Given the description of an element on the screen output the (x, y) to click on. 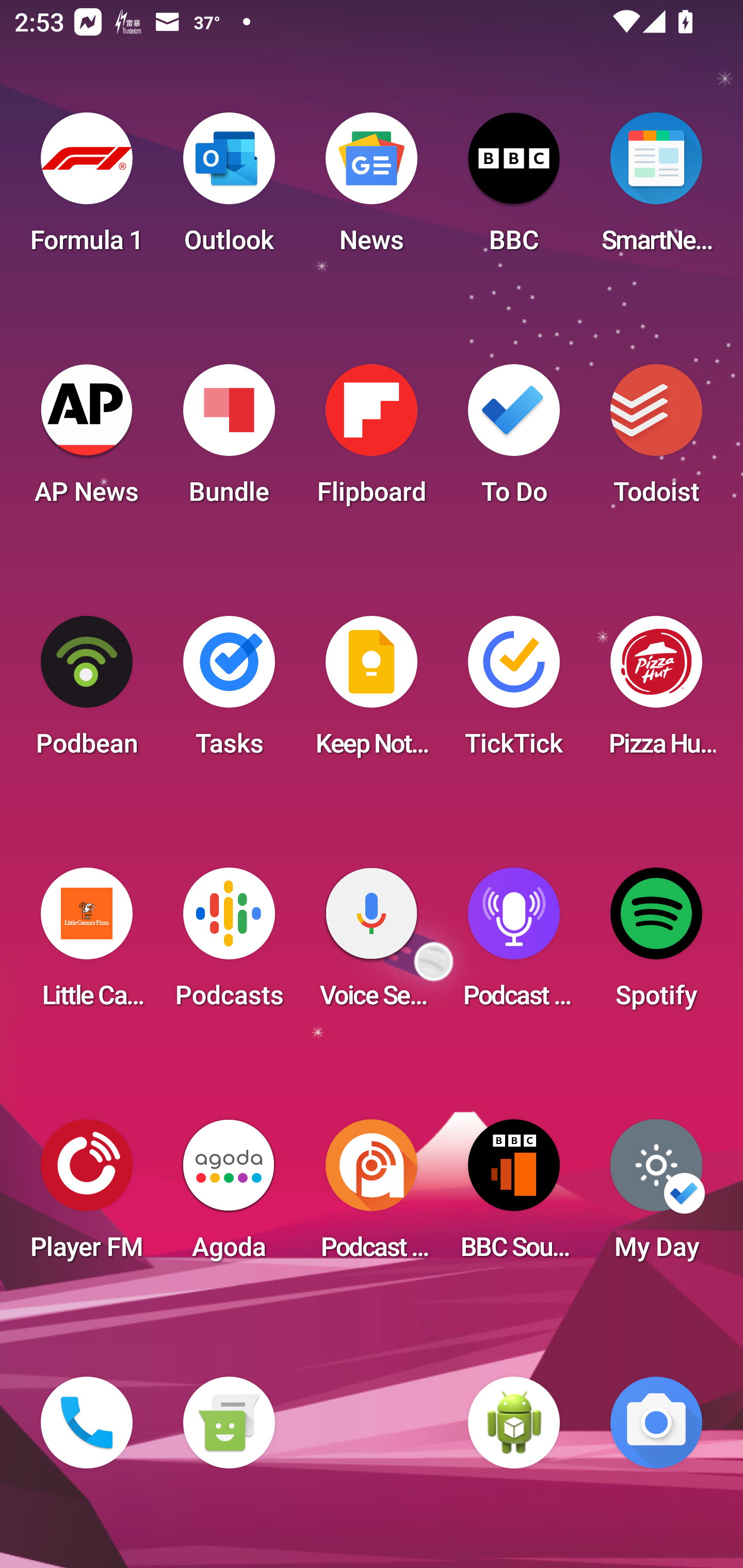
Formula 1 (86, 188)
Outlook (228, 188)
News (371, 188)
BBC (513, 188)
SmartNews (656, 188)
AP News (86, 440)
Bundle (228, 440)
Flipboard (371, 440)
To Do (513, 440)
Todoist (656, 440)
Podbean (86, 692)
Tasks (228, 692)
Keep Notes (371, 692)
TickTick (513, 692)
Pizza Hut HK & Macau (656, 692)
Little Caesars Pizza (86, 943)
Podcasts (228, 943)
Voice Search (371, 943)
Podcast Player (513, 943)
Spotify (656, 943)
Player FM (86, 1195)
Agoda (228, 1195)
Podcast Addict (371, 1195)
BBC Sounds (513, 1195)
My Day (656, 1195)
Phone (86, 1422)
Messaging (228, 1422)
WebView Browser Tester (513, 1422)
Camera (656, 1422)
